Given the description of an element on the screen output the (x, y) to click on. 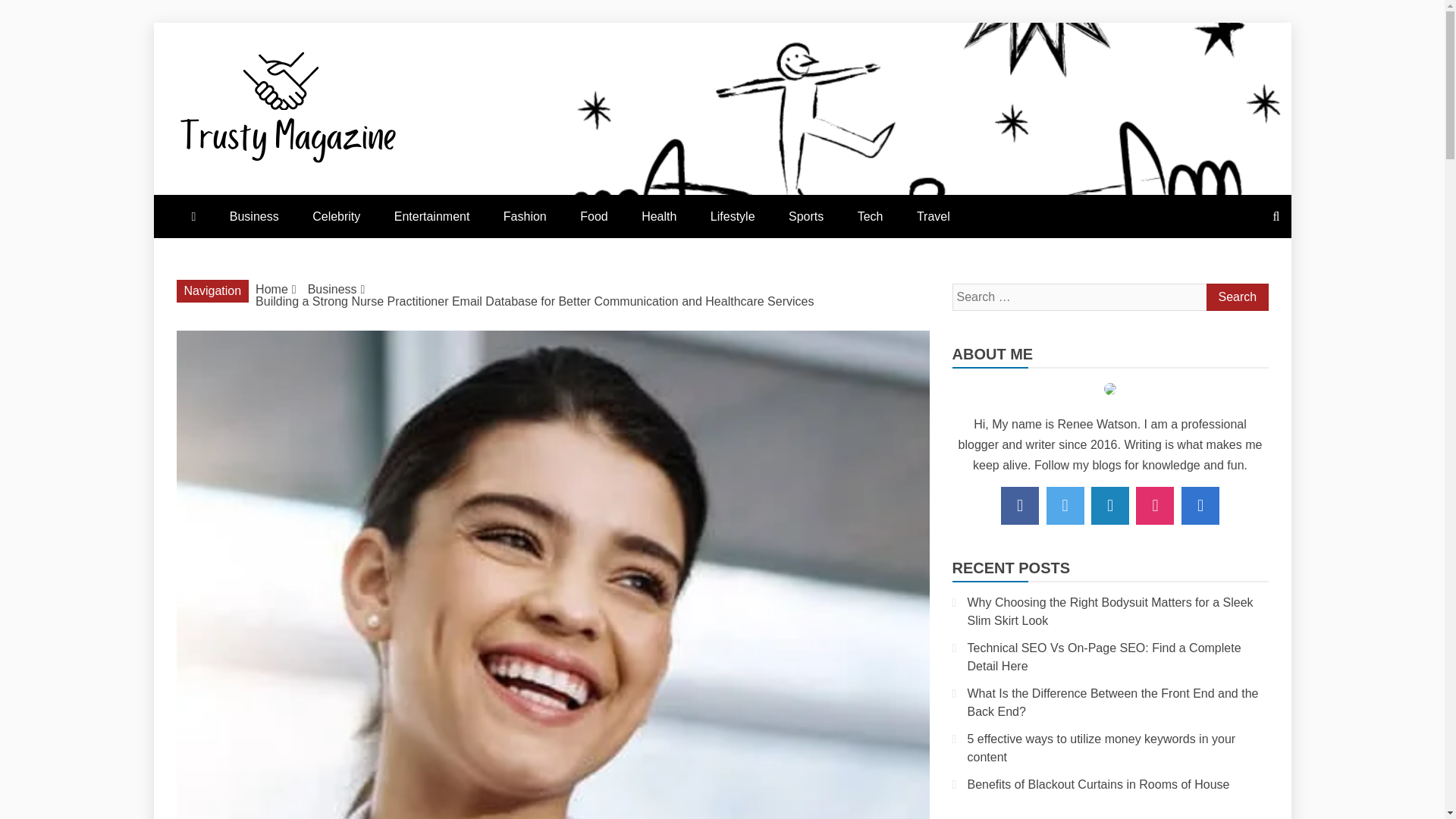
Entertainment (431, 216)
Fashion (524, 216)
Tech (870, 216)
Lifestyle (732, 216)
Health (658, 216)
Business (331, 288)
Business (254, 216)
Search (1236, 297)
Celebrity (336, 216)
